Given the description of an element on the screen output the (x, y) to click on. 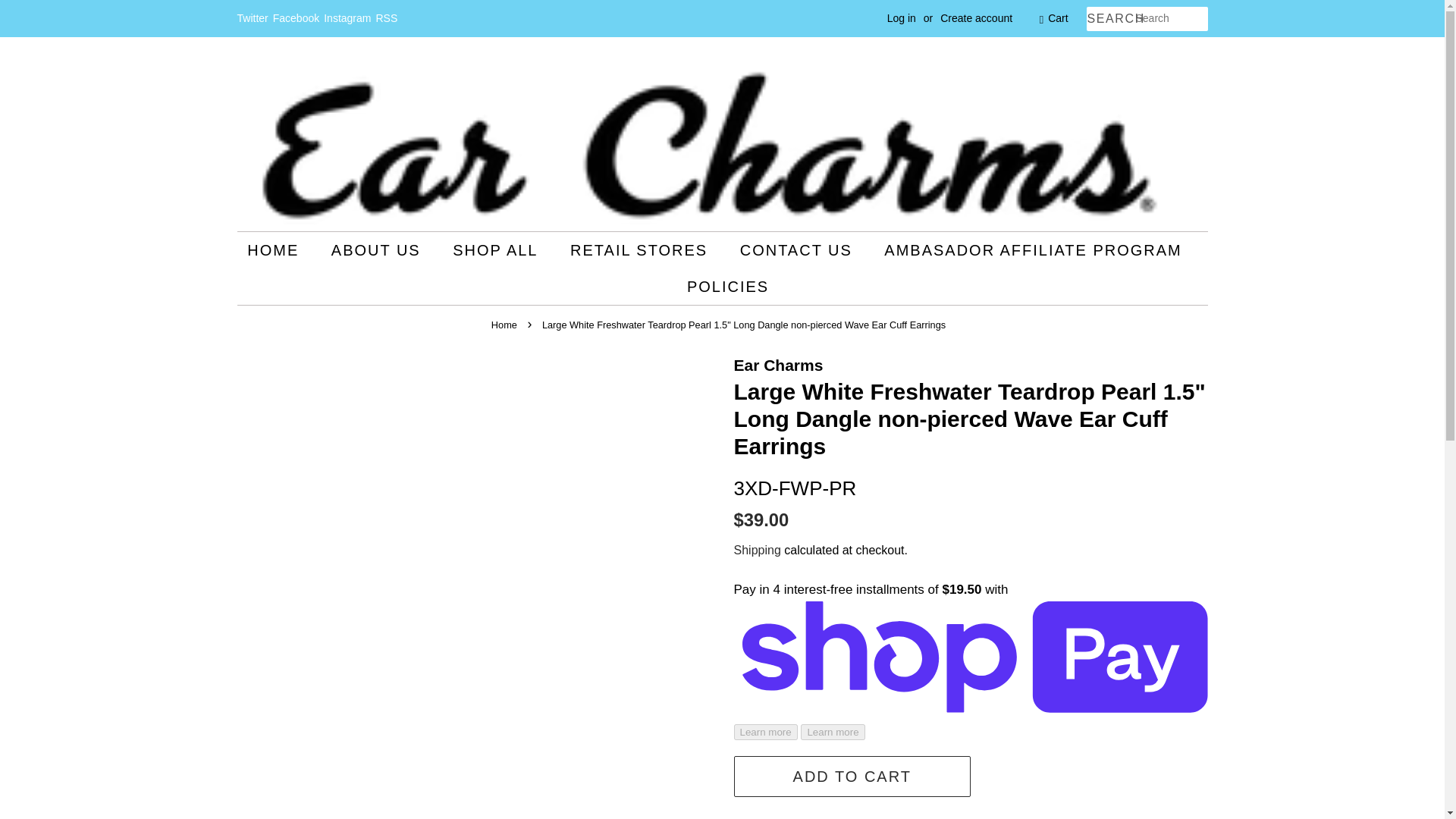
HOME (280, 249)
EarCharms.com on Facebook (295, 18)
Create account (975, 18)
POLICIES (721, 286)
RSS (386, 18)
SHOP ALL (497, 249)
CONTACT US (798, 249)
Log in (900, 18)
Twitter (251, 18)
Cart (1057, 18)
